Given the description of an element on the screen output the (x, y) to click on. 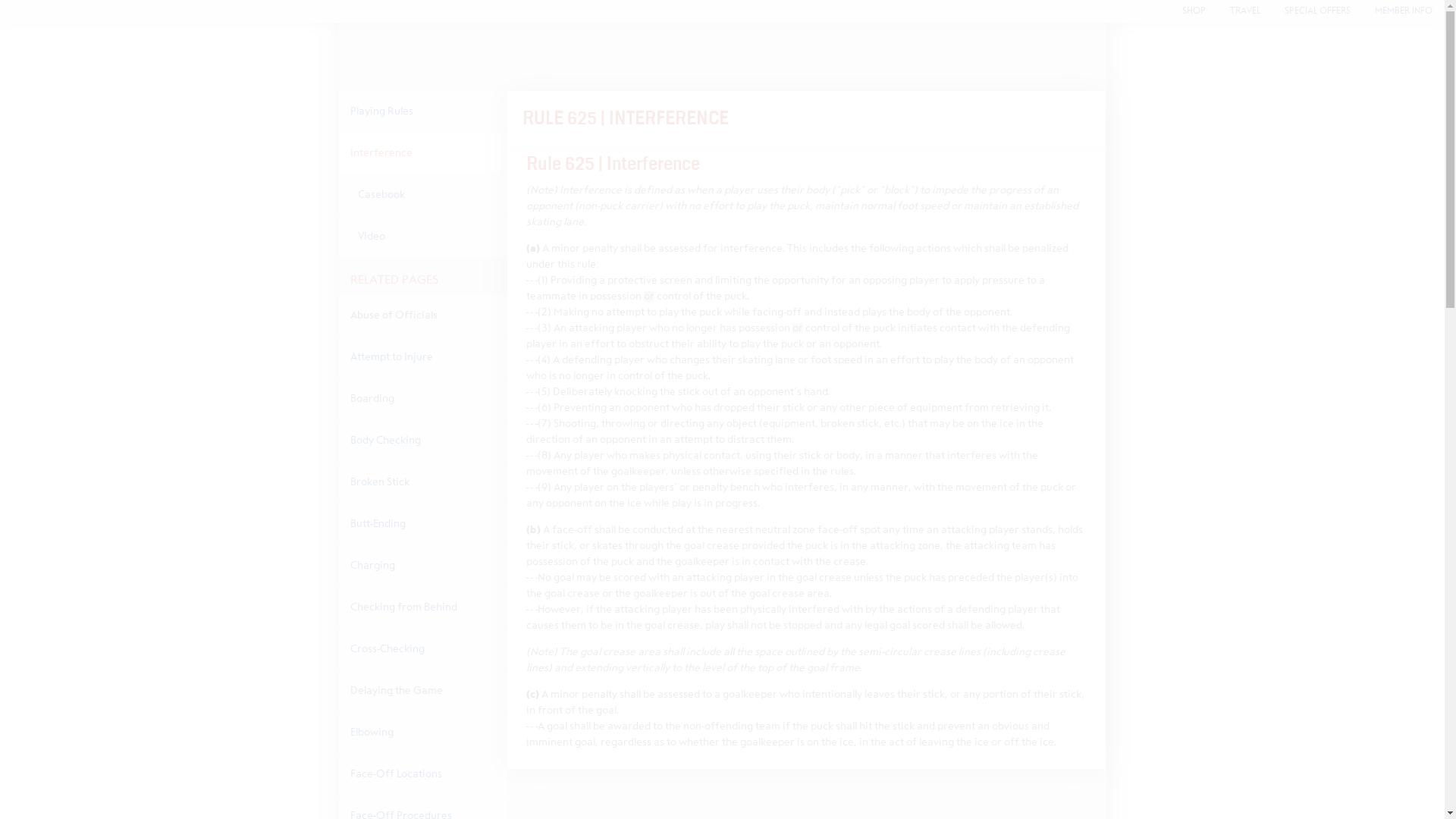
Broken Stick (421, 481)
click to go to 'Video' (421, 236)
Charging (421, 565)
Delaying the Game (421, 690)
click to go to 'Section Six - Playing Rules' (421, 110)
Checking from Behind (421, 607)
USA Hockey Officiating Rulebook Mobile Site Homepage (721, 56)
SPECIAL OFFERS (1317, 11)
USA Hockey Officiating Rulebook Mobile Site (721, 56)
Butt-Ending (421, 523)
